Given the description of an element on the screen output the (x, y) to click on. 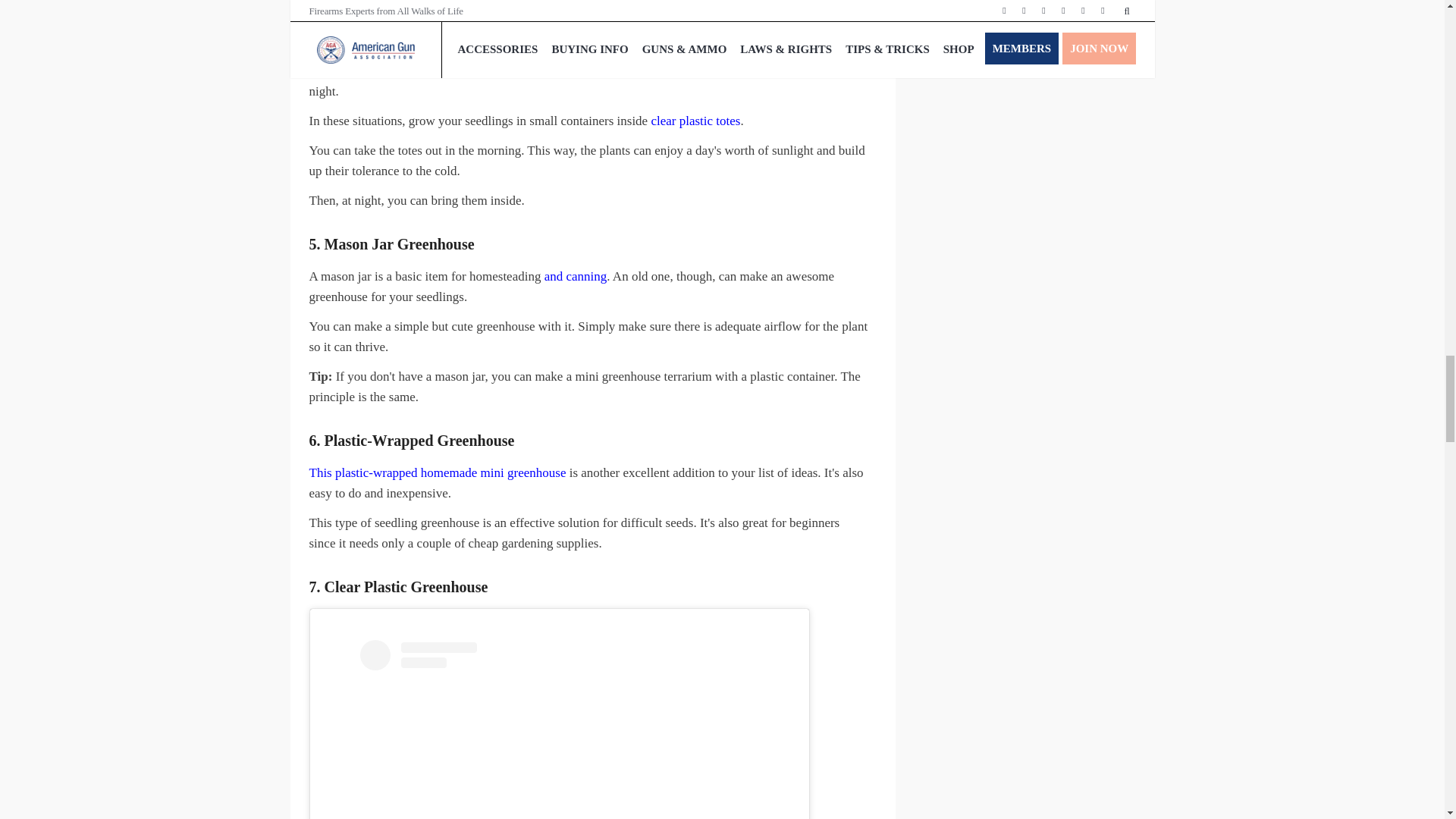
and canning (575, 276)
Two Old Oaks (488, 8)
clear plastic totes (694, 120)
